Given the description of an element on the screen output the (x, y) to click on. 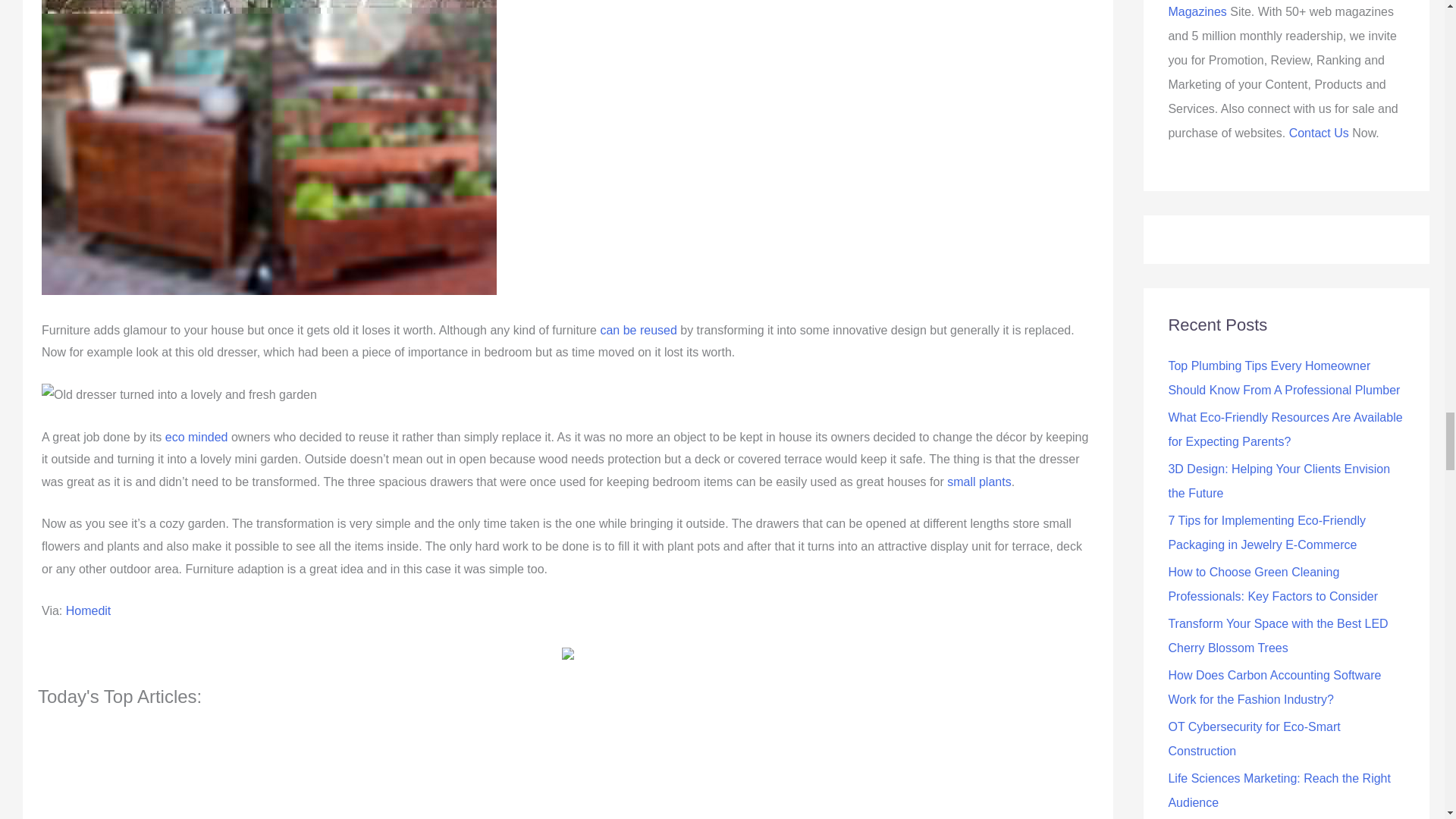
Old dresser turned into a lovely and fresh garden (179, 395)
